Given the description of an element on the screen output the (x, y) to click on. 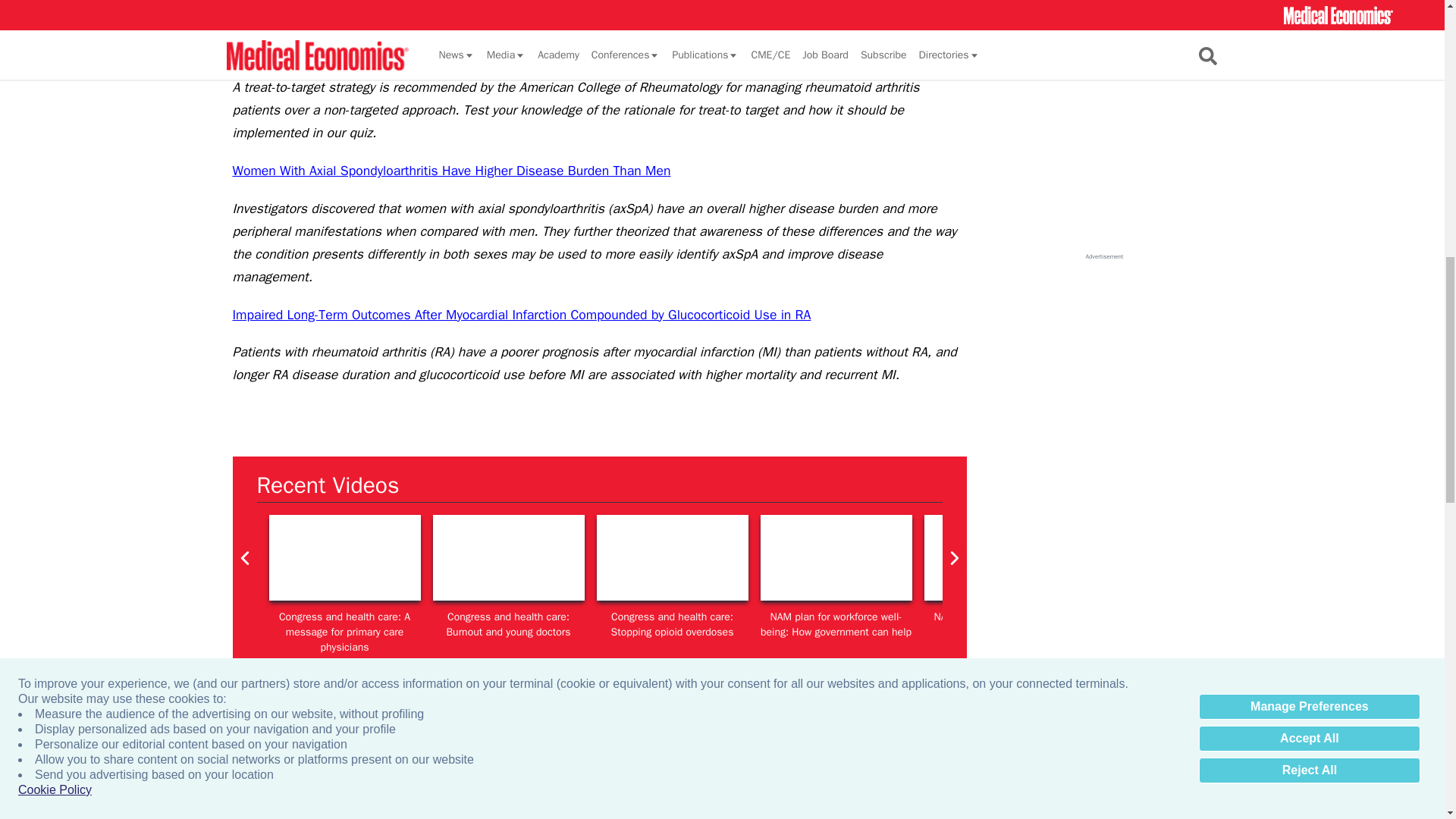
Long COVID: Ask about post-exertional malaise (1163, 557)
Congress and health care: Burnout and young doctors (507, 557)
Victor J. Dzau, MD, gives expert advice (999, 557)
Victor J. Dzau, MD, gives expert advice  (835, 557)
Congress and health care: Stopping opioid overdoses (671, 557)
Monica Verduzco-Gutierrez, MD, FAAPMR, gives expert advice (1326, 557)
